Given the description of an element on the screen output the (x, y) to click on. 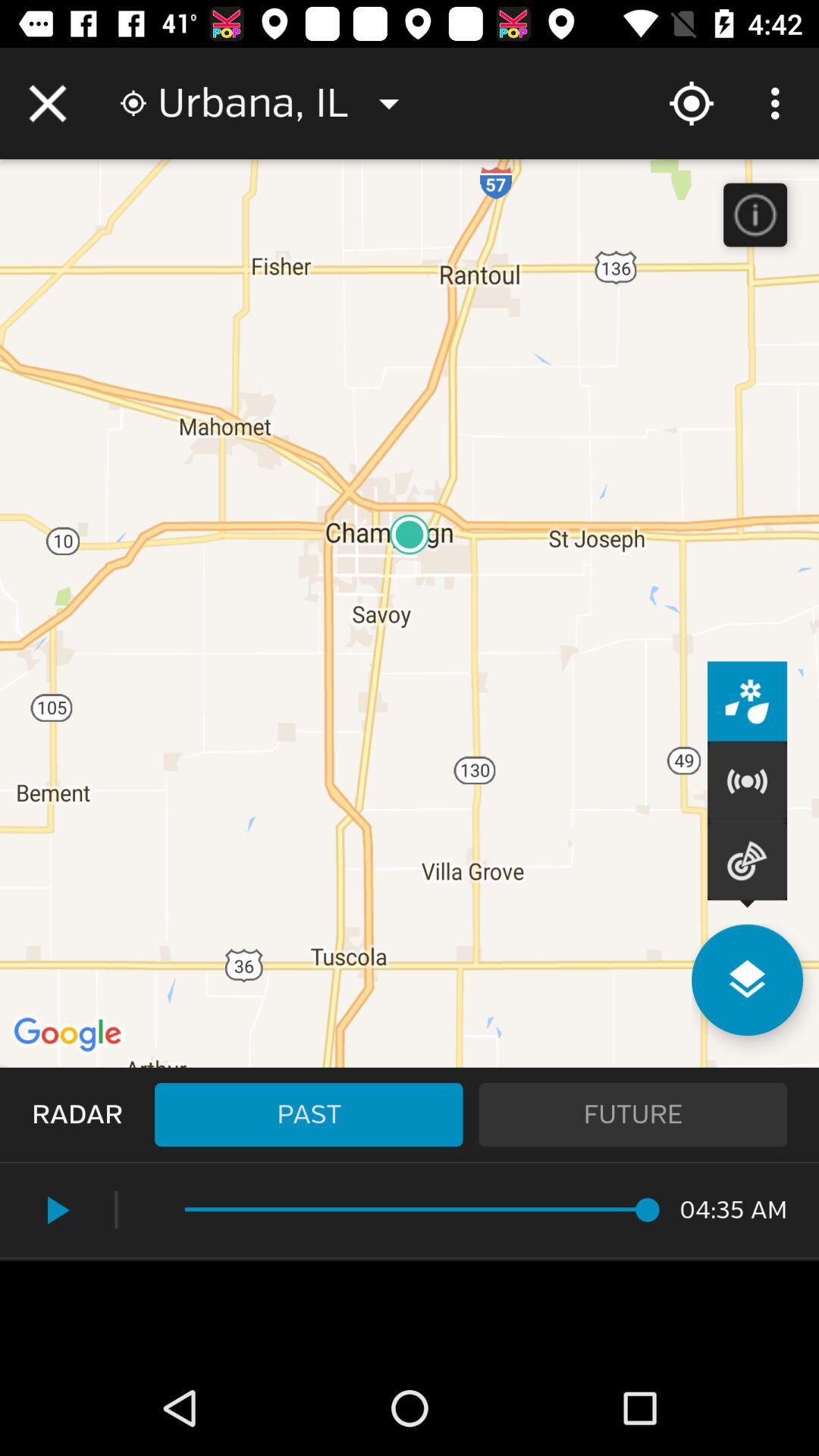
view map options (747, 979)
